Given the description of an element on the screen output the (x, y) to click on. 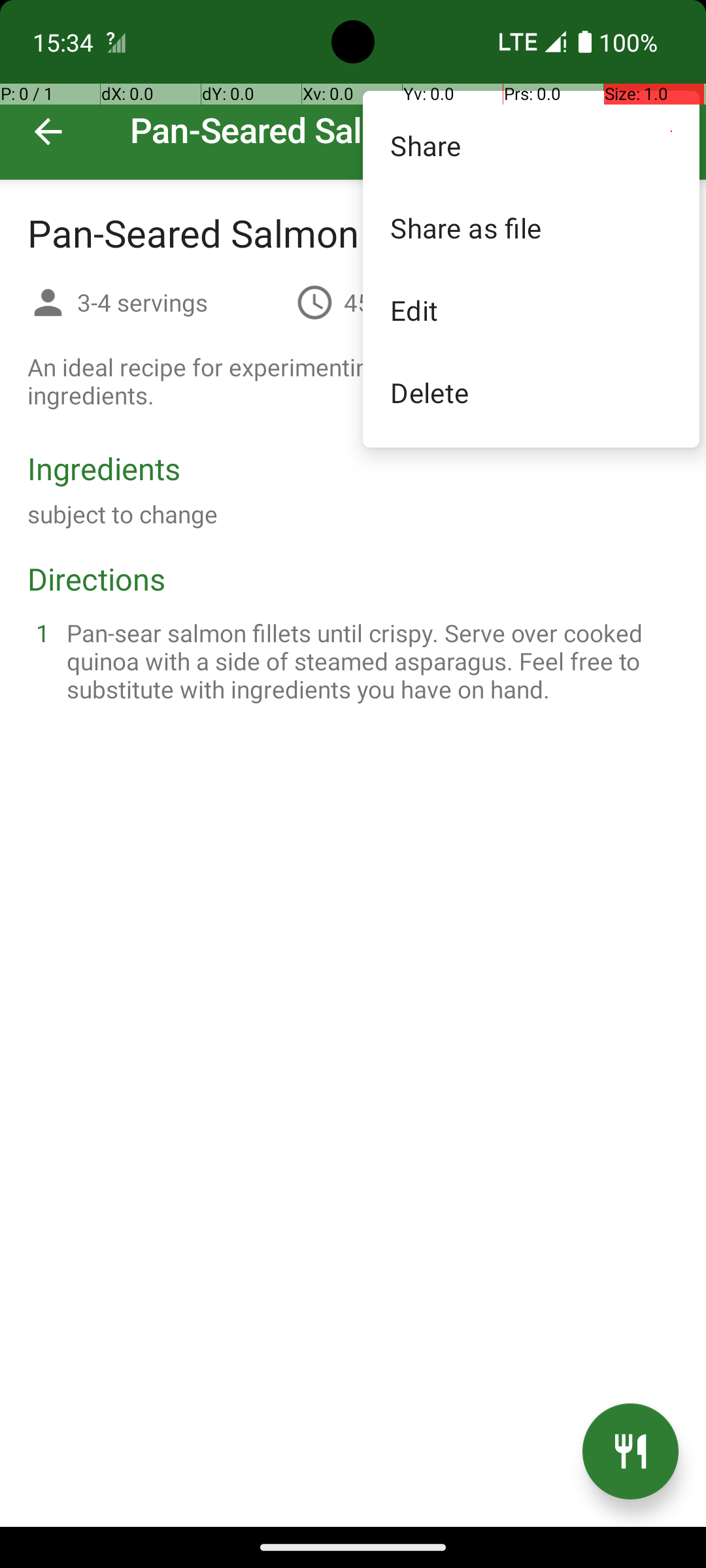
Share as file Element type: android.widget.TextView (531, 227)
